Given the description of an element on the screen output the (x, y) to click on. 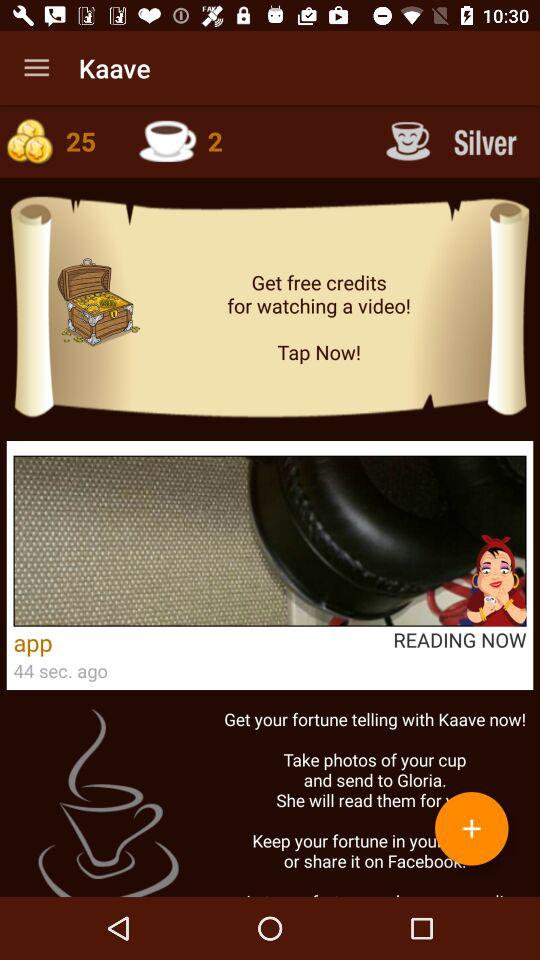
launch the item above the get free credits item (454, 140)
